Given the description of an element on the screen output the (x, y) to click on. 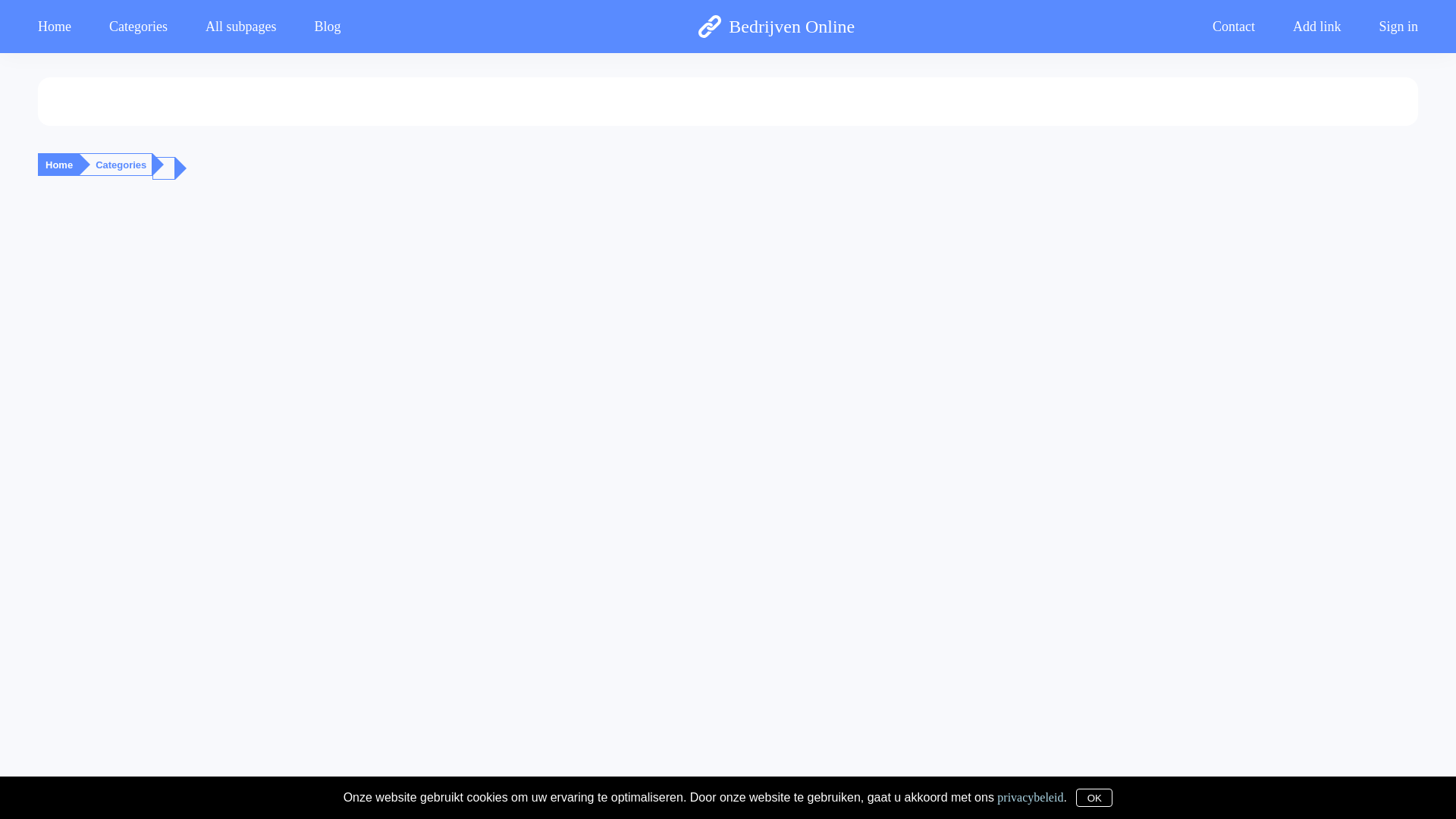
Contact Element type: text (851, 803)
bedrijven-online.be Element type: text (655, 803)
OK Element type: text (1094, 797)
Contact Element type: text (1233, 25)
Home Element type: text (63, 25)
Home Element type: text (58, 164)
privacybeleid Element type: text (1030, 796)
All subpages Element type: text (240, 25)
Bedrijven Online Element type: text (775, 26)
Privacy Policy Element type: text (723, 803)
Add link Element type: text (1317, 25)
Sign in Element type: text (1388, 25)
Categories Element type: text (120, 164)
Categories Element type: text (138, 25)
Blog Element type: text (326, 25)
Terms & Conditions Element type: text (793, 803)
